Given the description of an element on the screen output the (x, y) to click on. 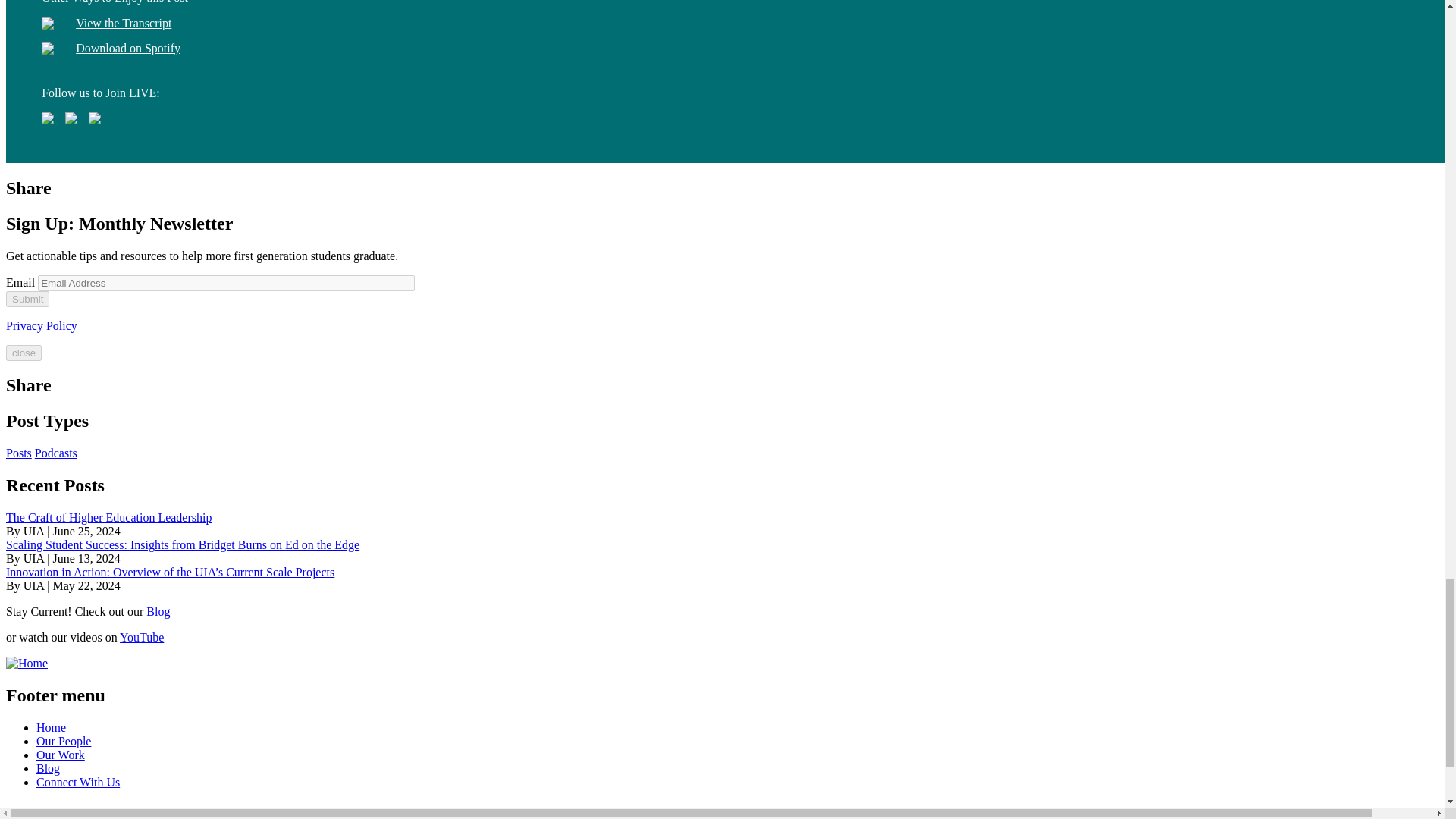
Submit (27, 299)
Home (26, 662)
close (23, 351)
